Given the description of an element on the screen output the (x, y) to click on. 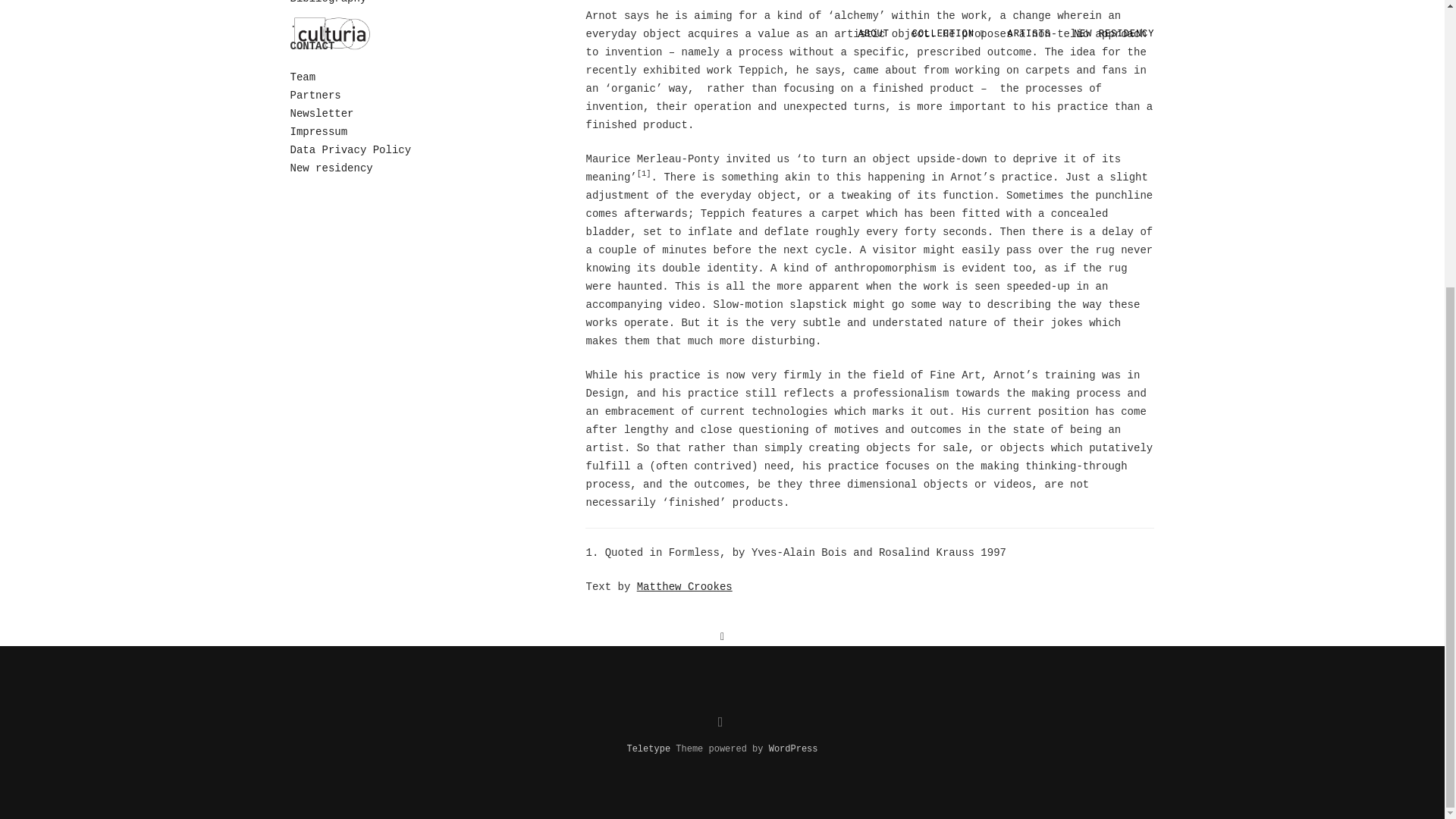
Teletype (647, 748)
Partners (314, 95)
New residency (330, 168)
WordPress (793, 748)
Matthew Crookes (684, 586)
Impressum (318, 132)
Newsletter (321, 113)
Data Privacy Policy (349, 150)
Bibliography (327, 2)
Team (302, 77)
